Given the description of an element on the screen output the (x, y) to click on. 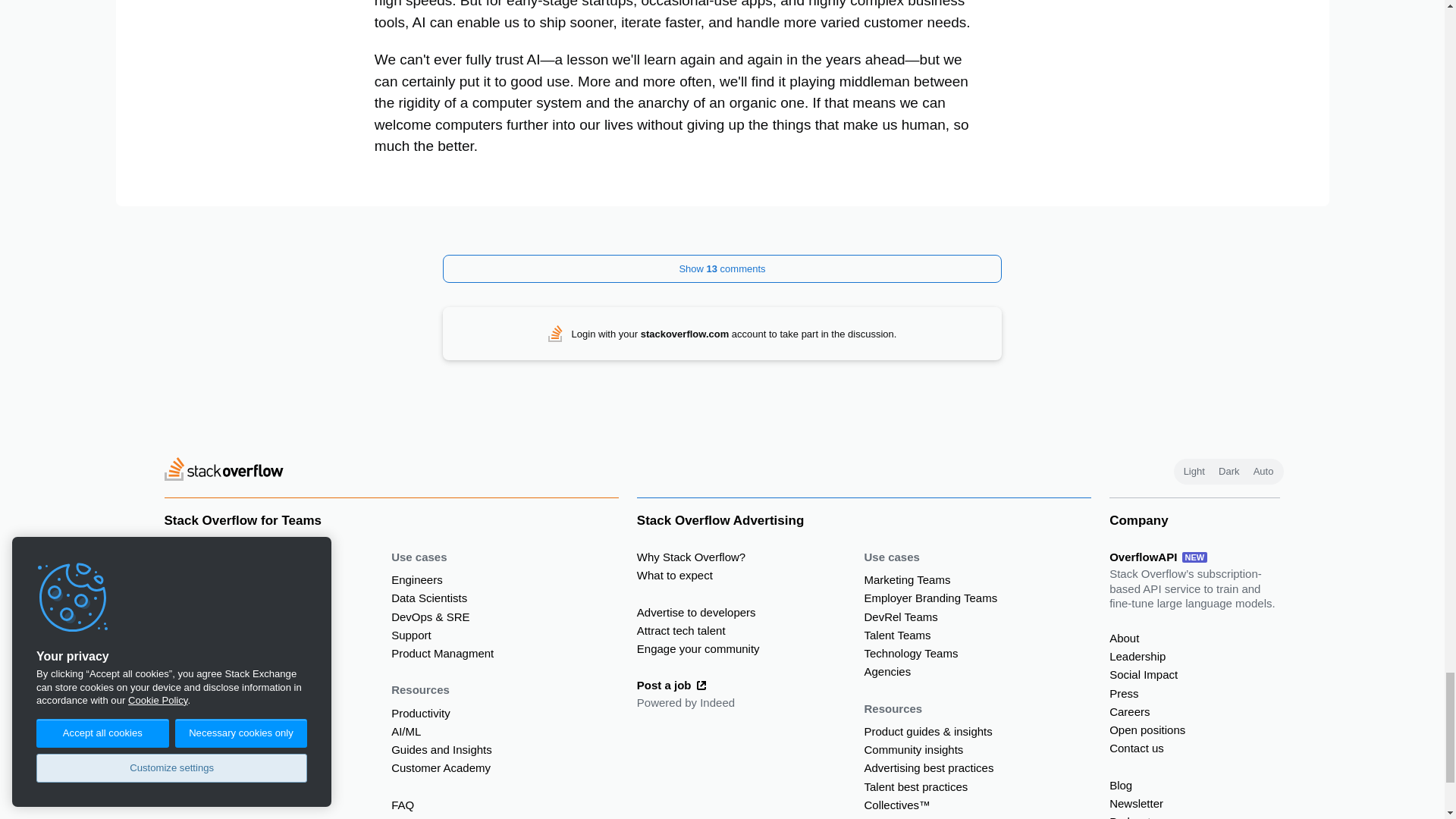
Return to home (222, 471)
Show 13 comments (721, 268)
